Given the description of an element on the screen output the (x, y) to click on. 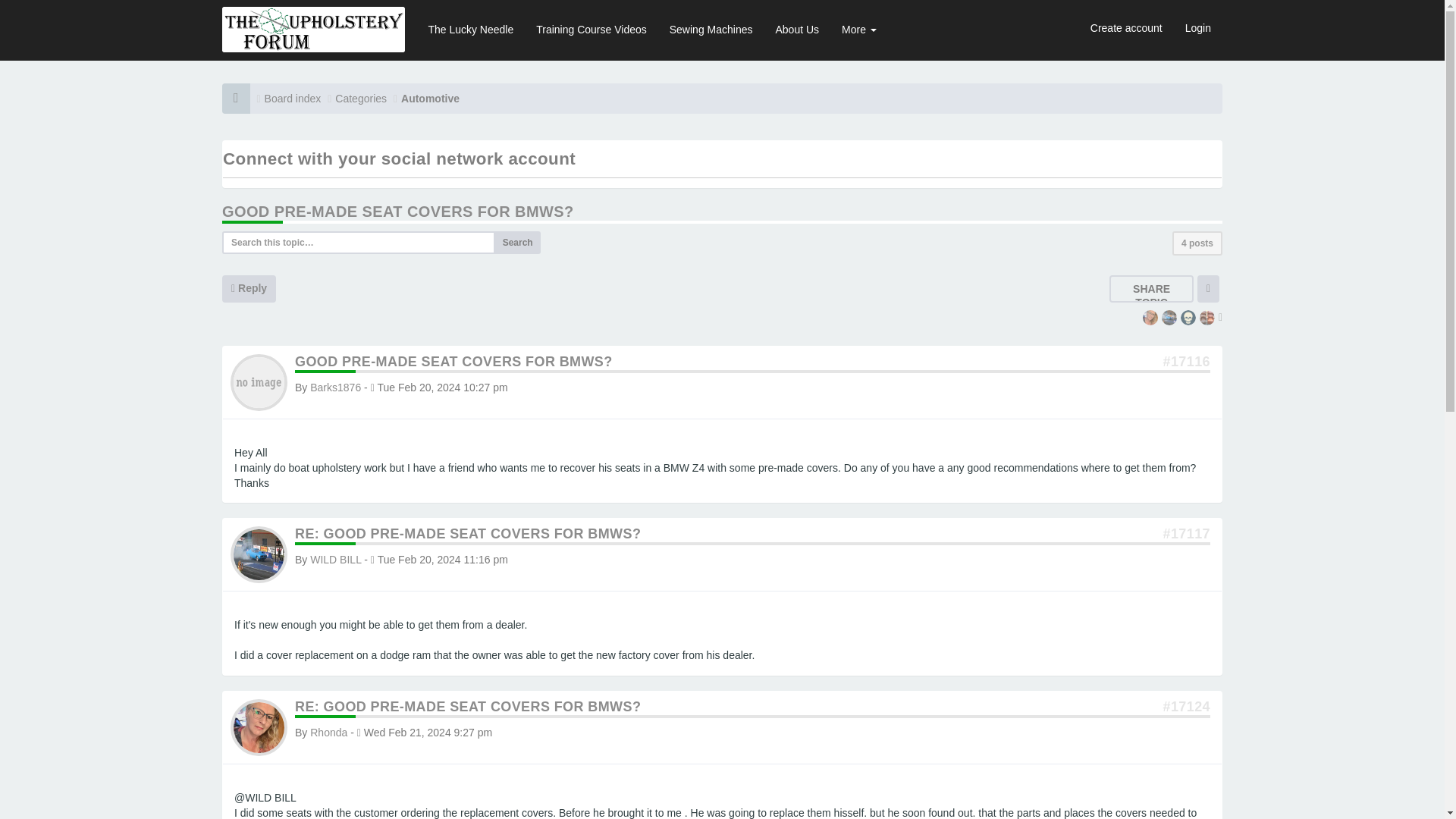
Categories (360, 98)
GOOD PRE-MADE SEAT COVERS FOR BMWS? (397, 211)
User mini profile (258, 727)
Board index (292, 98)
Barks1876 (335, 387)
User mini profile (258, 381)
Create account (1125, 27)
Automotive (430, 98)
Search (517, 241)
GOOD PRE-MADE SEAT COVERS FOR BMWS? (453, 361)
SHARE TOPIC (1151, 295)
4 posts (1197, 242)
Training Course Videos (591, 29)
Login (1198, 27)
 Reply (249, 288)
